Given the description of an element on the screen output the (x, y) to click on. 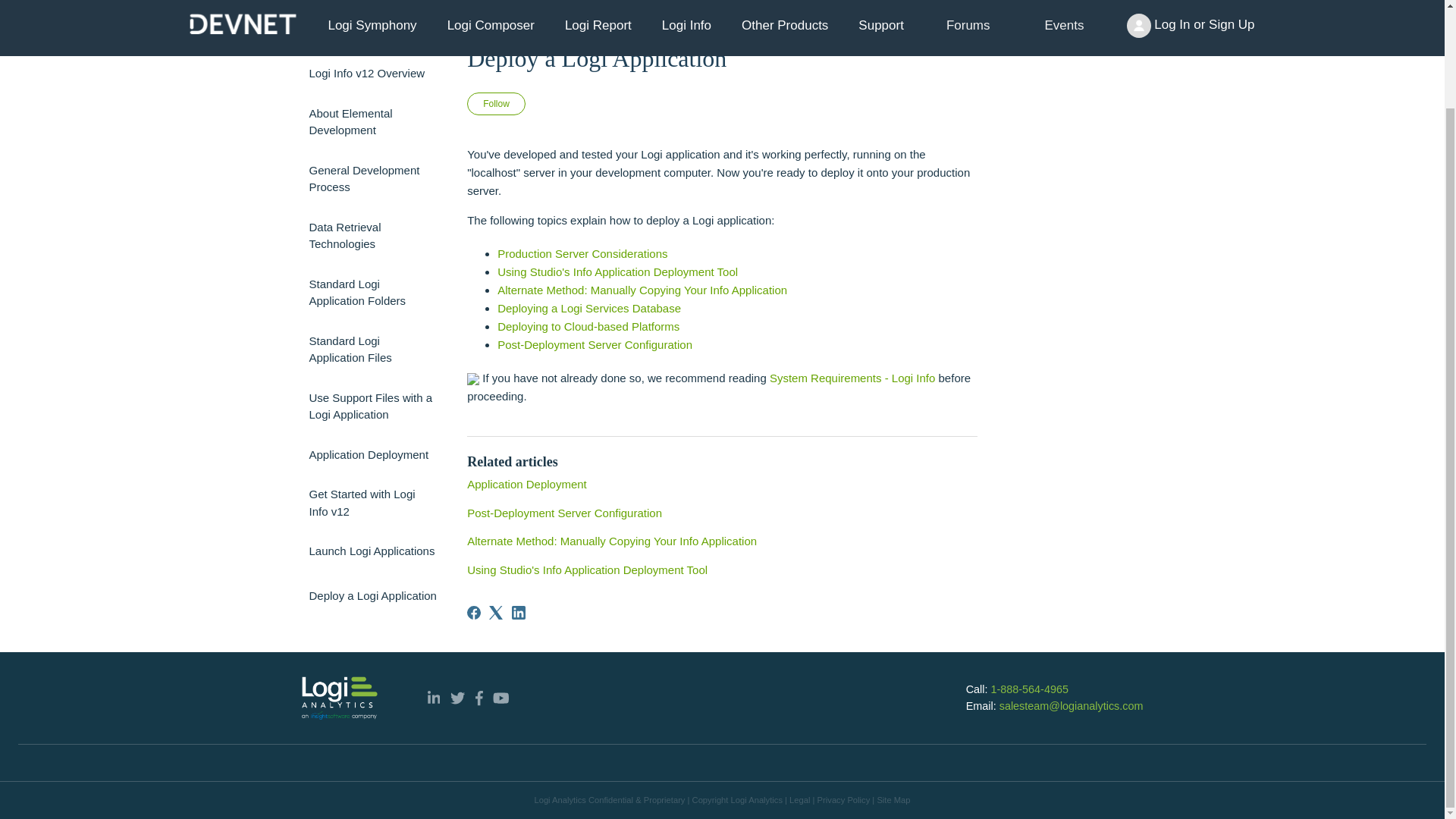
Find Logi Analytics on YouTube (501, 698)
Find Logi Analytics on Twitter (456, 698)
Deploy a Logi Application (721, 57)
Deploy a Logi Application (373, 595)
